Given the description of an element on the screen output the (x, y) to click on. 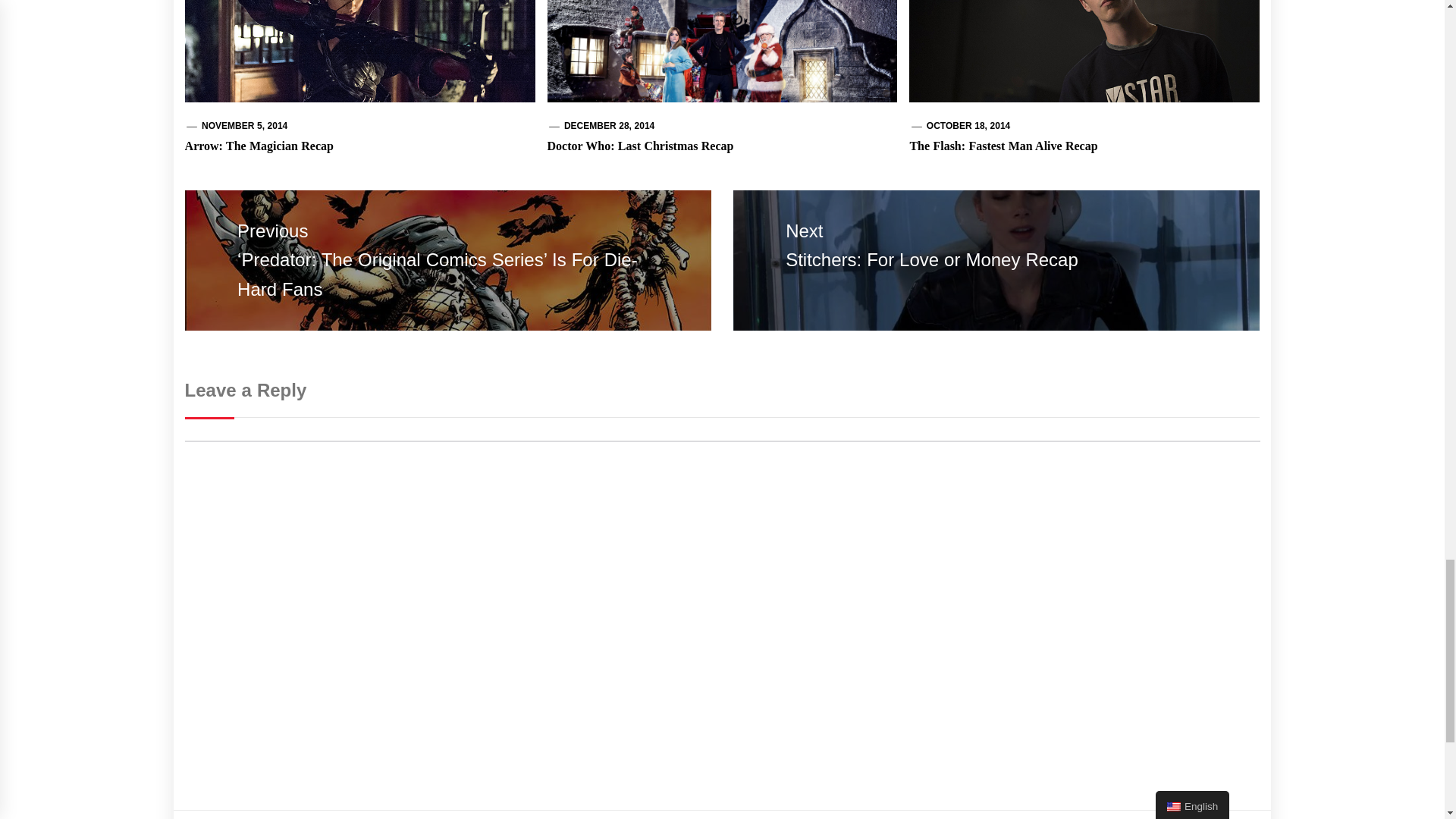
Doctor Who: Last Christmas Recap (640, 145)
DECEMBER 28, 2014 (608, 125)
OCTOBER 18, 2014 (968, 125)
Arrow: The Magician Recap (258, 145)
NOVEMBER 5, 2014 (244, 125)
